Given the description of an element on the screen output the (x, y) to click on. 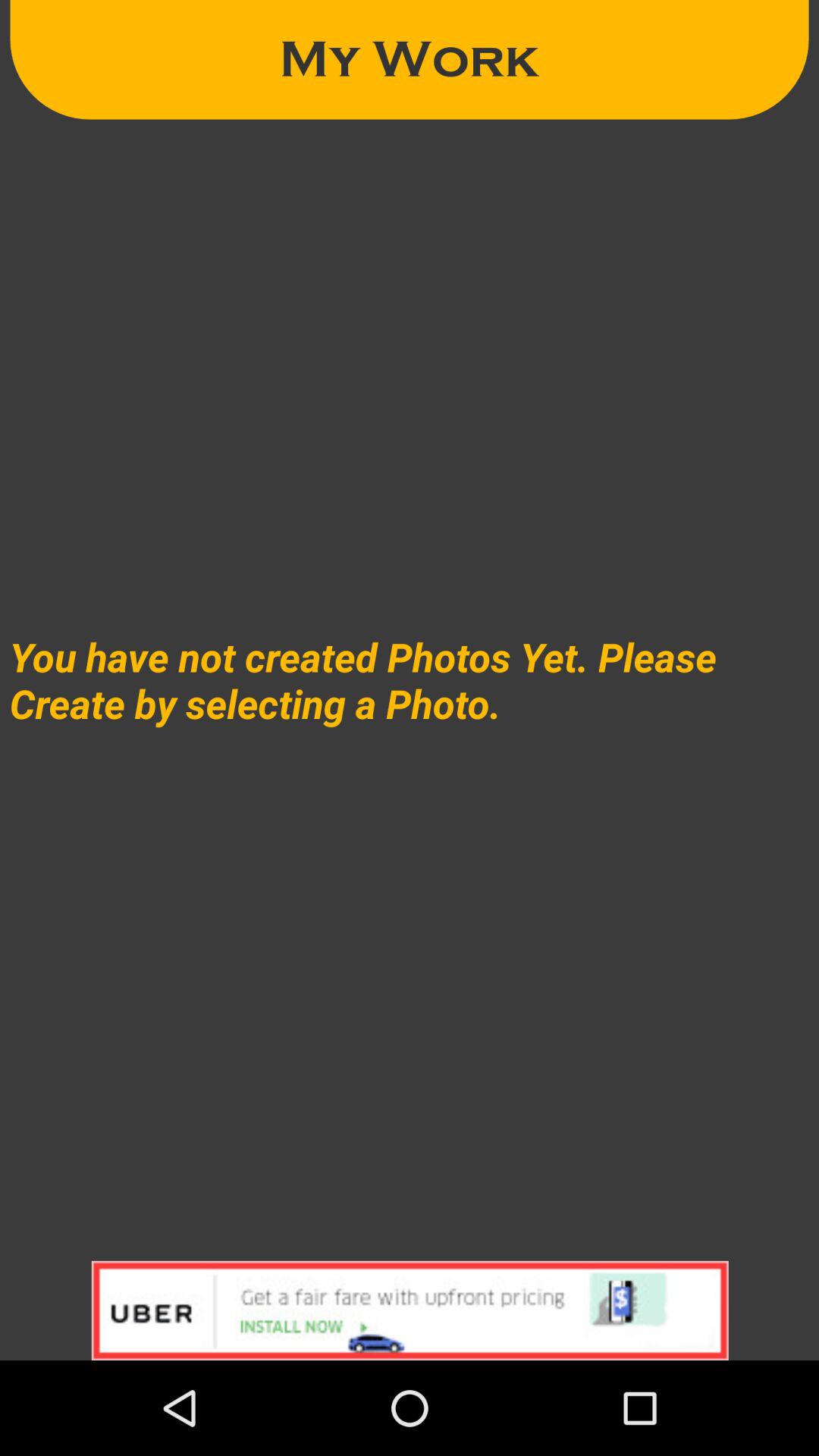
click on advertisement (409, 1310)
